Given the description of an element on the screen output the (x, y) to click on. 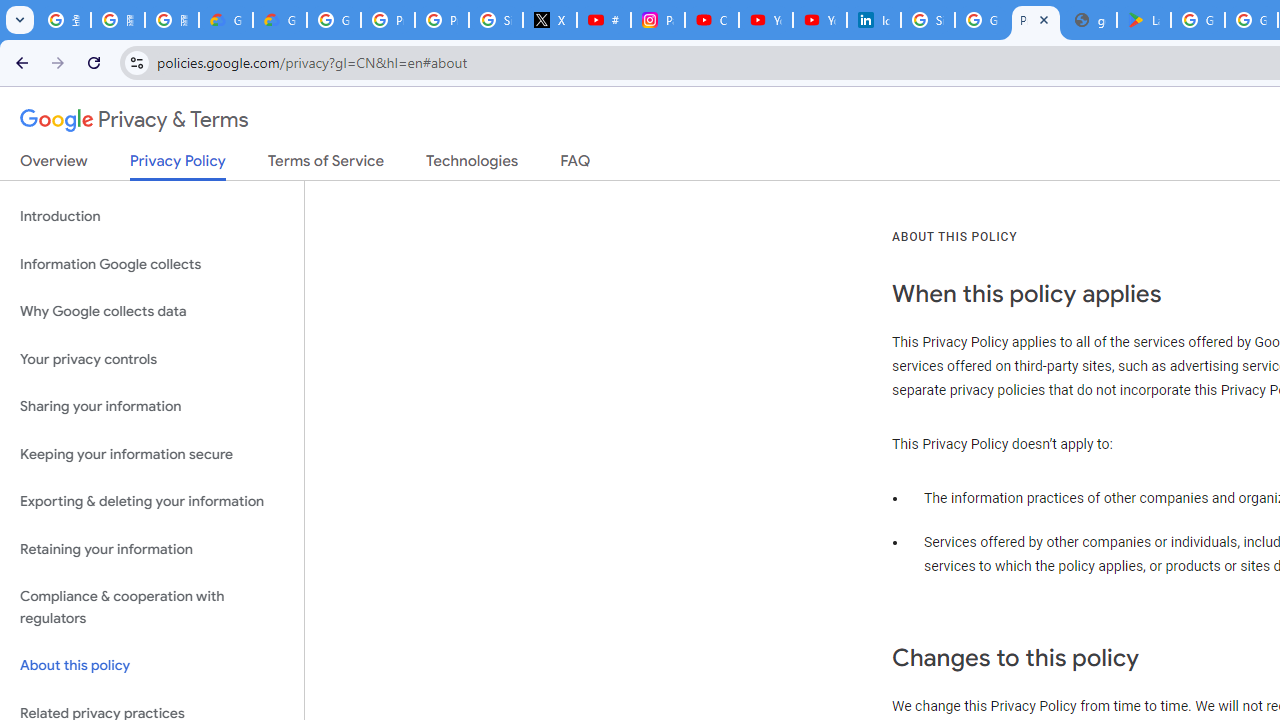
YouTube Culture & Trends - YouTube Top 10, 2021 (819, 20)
Privacy Help Center - Policies Help (387, 20)
Privacy Help Center - Policies Help (441, 20)
